Given the description of an element on the screen output the (x, y) to click on. 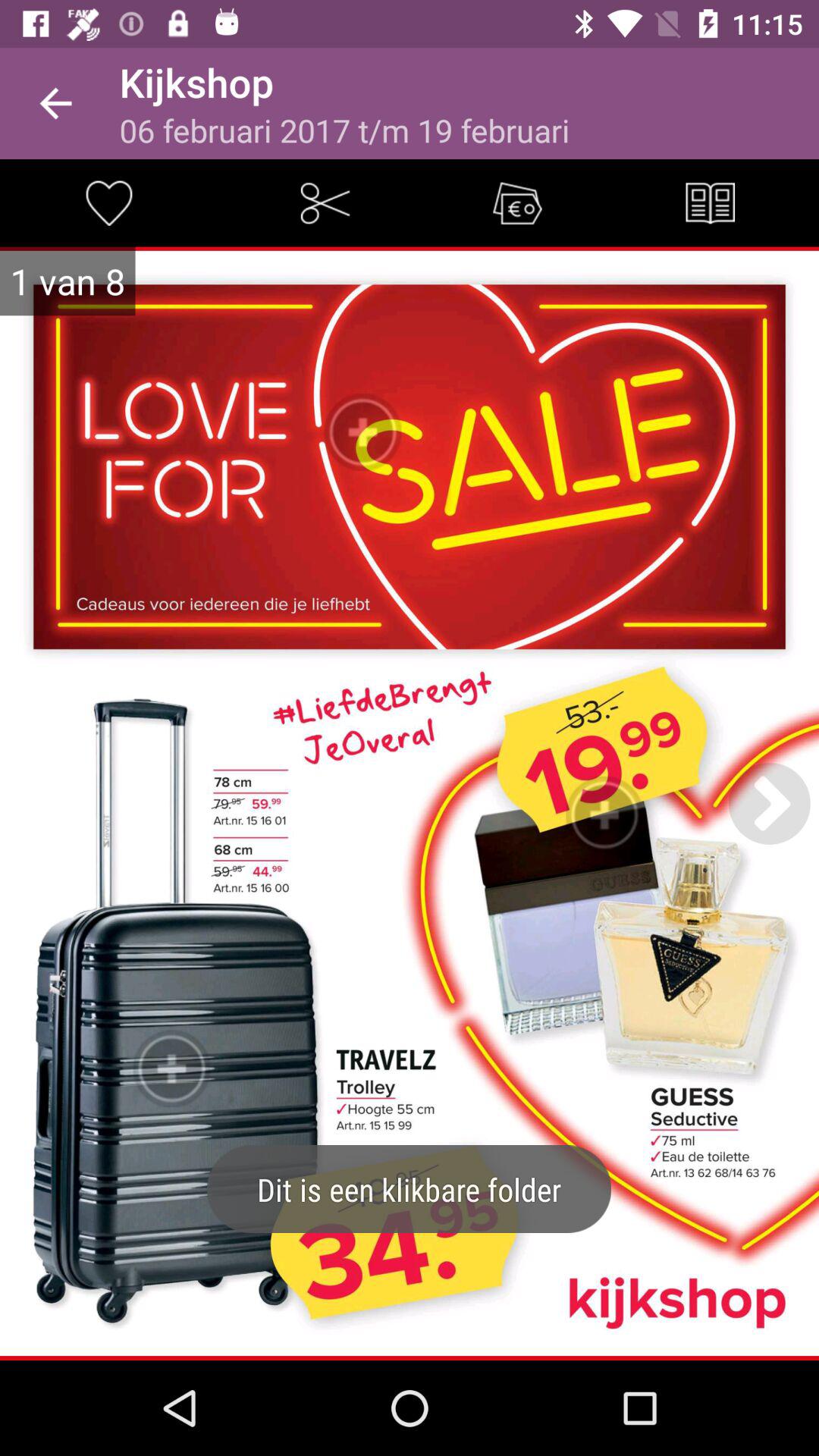
coupon/sale icon (517, 202)
